Given the description of an element on the screen output the (x, y) to click on. 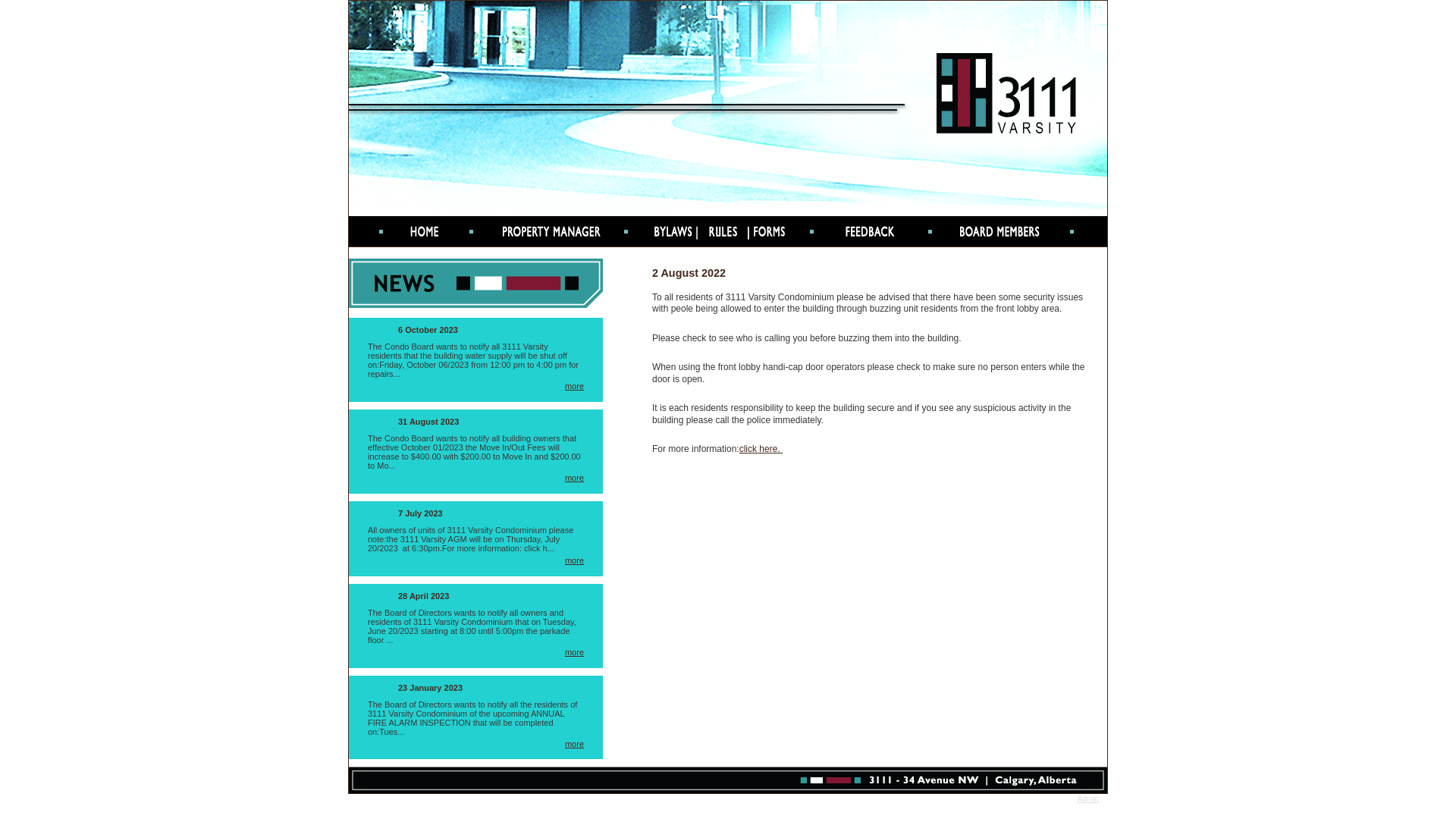
more Element type: text (573, 743)
click here.  Element type: text (760, 448)
  Element type: text (576, 231)
more Element type: text (573, 651)
more Element type: text (573, 385)
  Element type: text (1031, 231)
  Element type: text (424, 231)
Admin Element type: text (1087, 798)
more Element type: text (573, 559)
  Element type: text (727, 231)
more Element type: text (573, 477)
  Element type: text (879, 231)
